Given the description of an element on the screen output the (x, y) to click on. 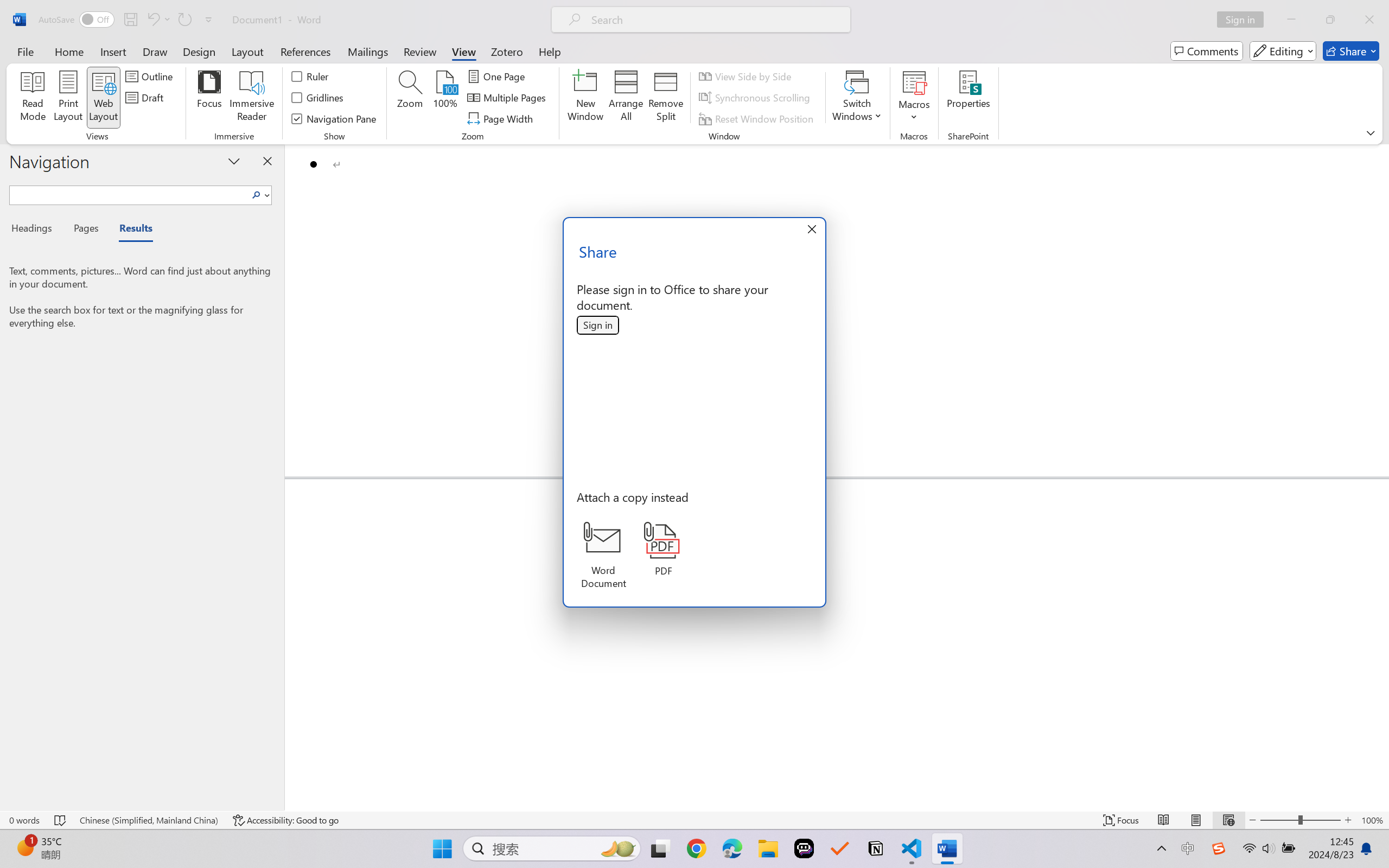
View Side by Side (746, 75)
Microsoft Edge (731, 848)
